Given the description of an element on the screen output the (x, y) to click on. 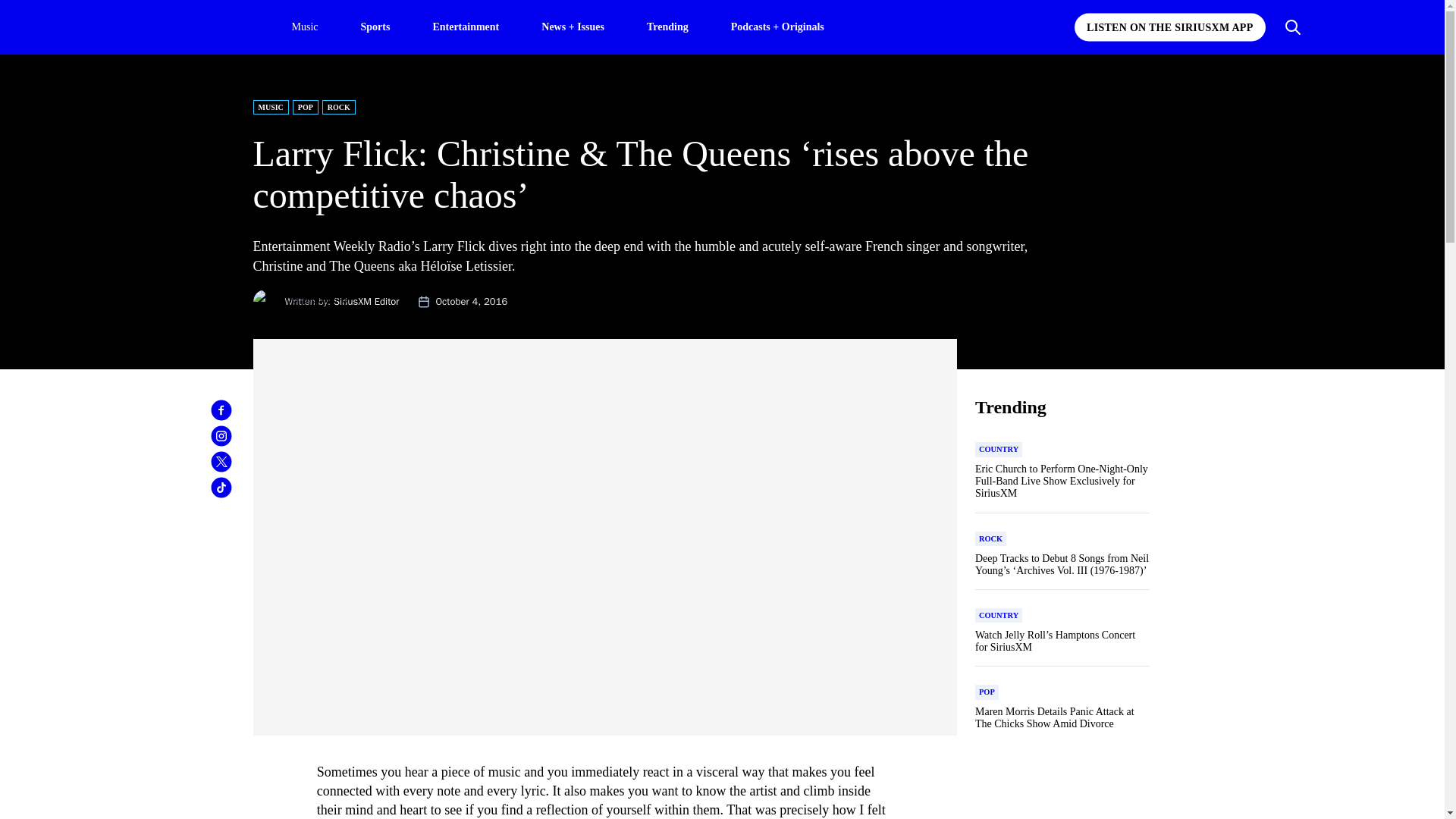
COUNTRY (998, 449)
Music (304, 26)
ROCK (990, 539)
MUSIC (270, 106)
ROCK (338, 106)
Entertainment (465, 26)
Sports (375, 26)
POP (305, 106)
Trending (667, 26)
